Given the description of an element on the screen output the (x, y) to click on. 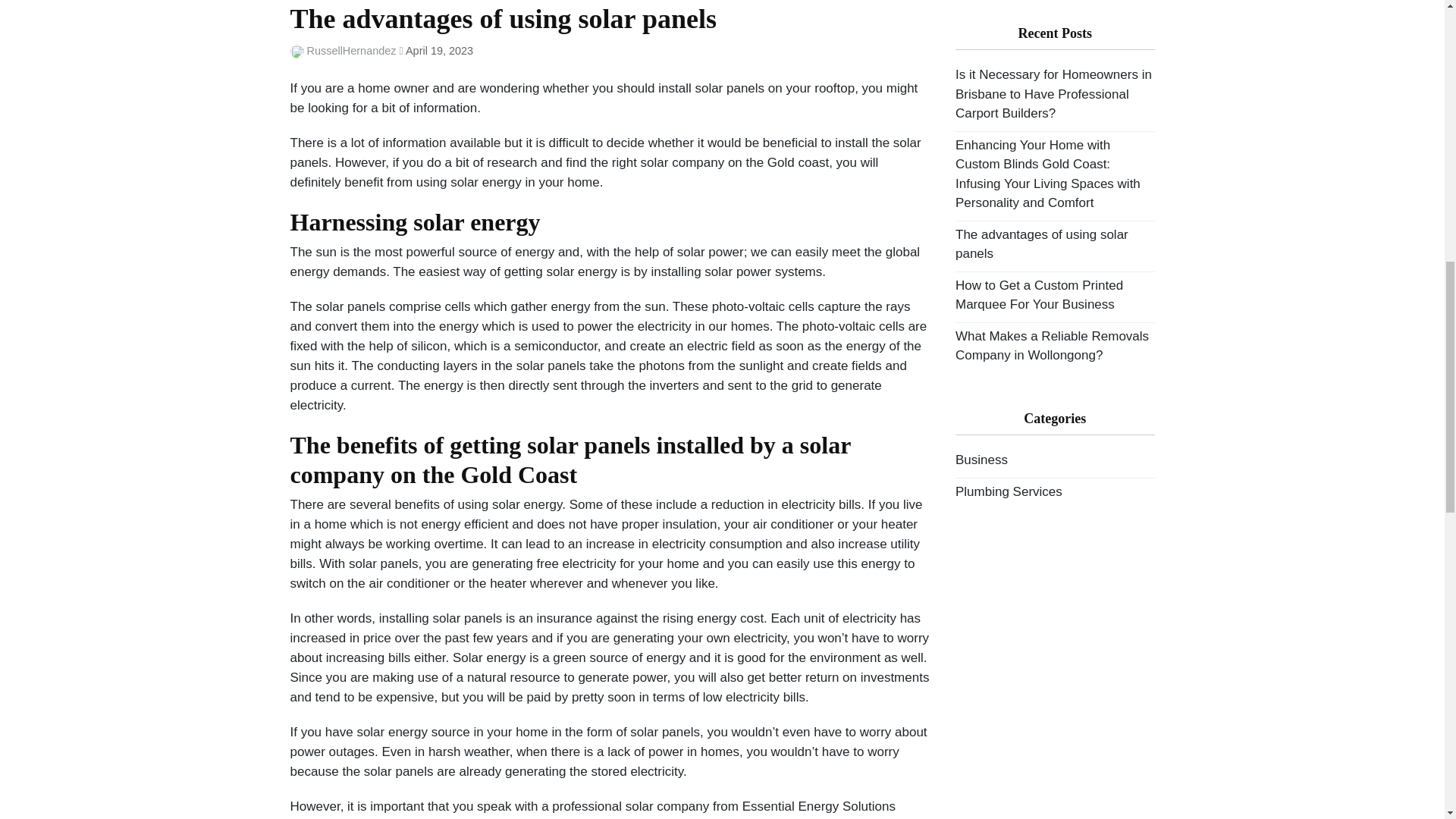
Plumbing Services (1008, 491)
How to Get a Custom Printed Marquee For Your Business (1038, 295)
Business (981, 459)
RussellHernandez (351, 50)
The advantages of using solar panels (1041, 244)
What Makes a Reliable Removals Company in Wollongong? (1051, 346)
